Given the description of an element on the screen output the (x, y) to click on. 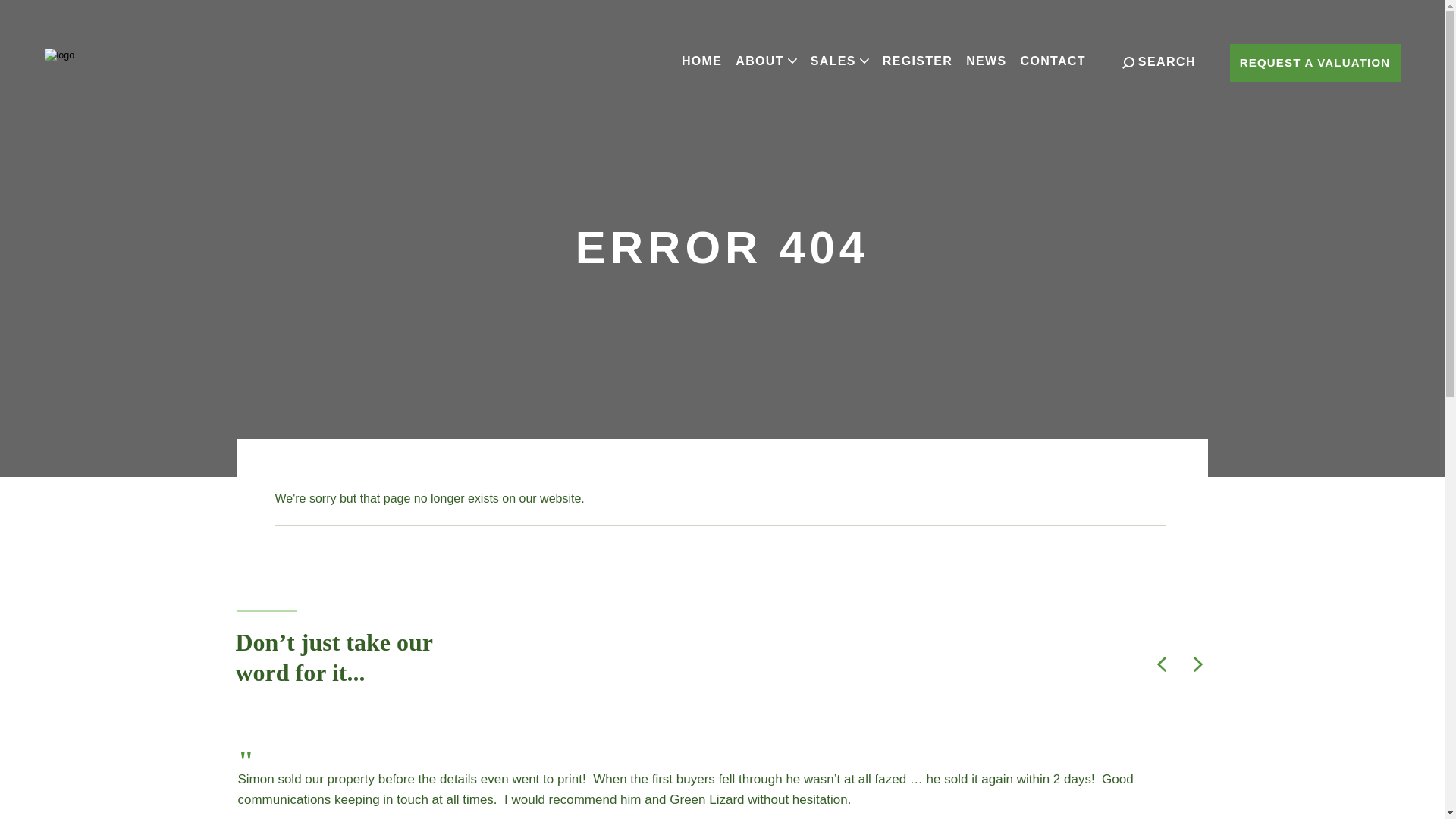
CONTACT (1052, 61)
REGISTER (917, 61)
HOME (701, 61)
REQUEST A VALUATION (1315, 62)
SEARCH (1158, 62)
NEWS (986, 61)
SALES (839, 61)
ABOUT (766, 61)
